Given the description of an element on the screen output the (x, y) to click on. 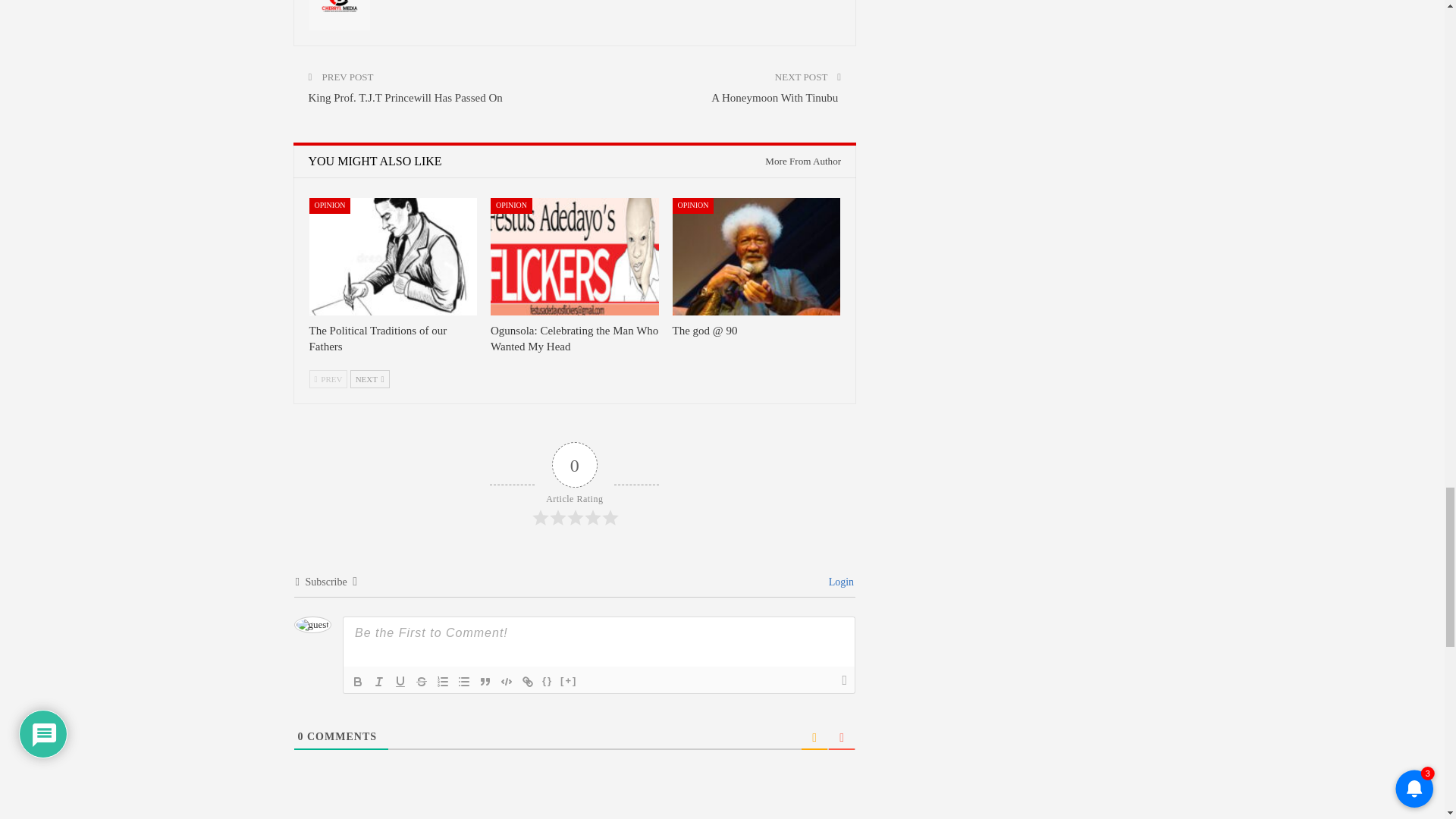
Next (370, 379)
Ogunsola: Celebrating the Man Who Wanted My Head (574, 338)
Bold (357, 681)
The Political Traditions of our Fathers (377, 338)
Ogunsola: Celebrating the Man Who Wanted My Head (574, 256)
Previous (327, 379)
The Political Traditions of our Fathers (392, 256)
